Given the description of an element on the screen output the (x, y) to click on. 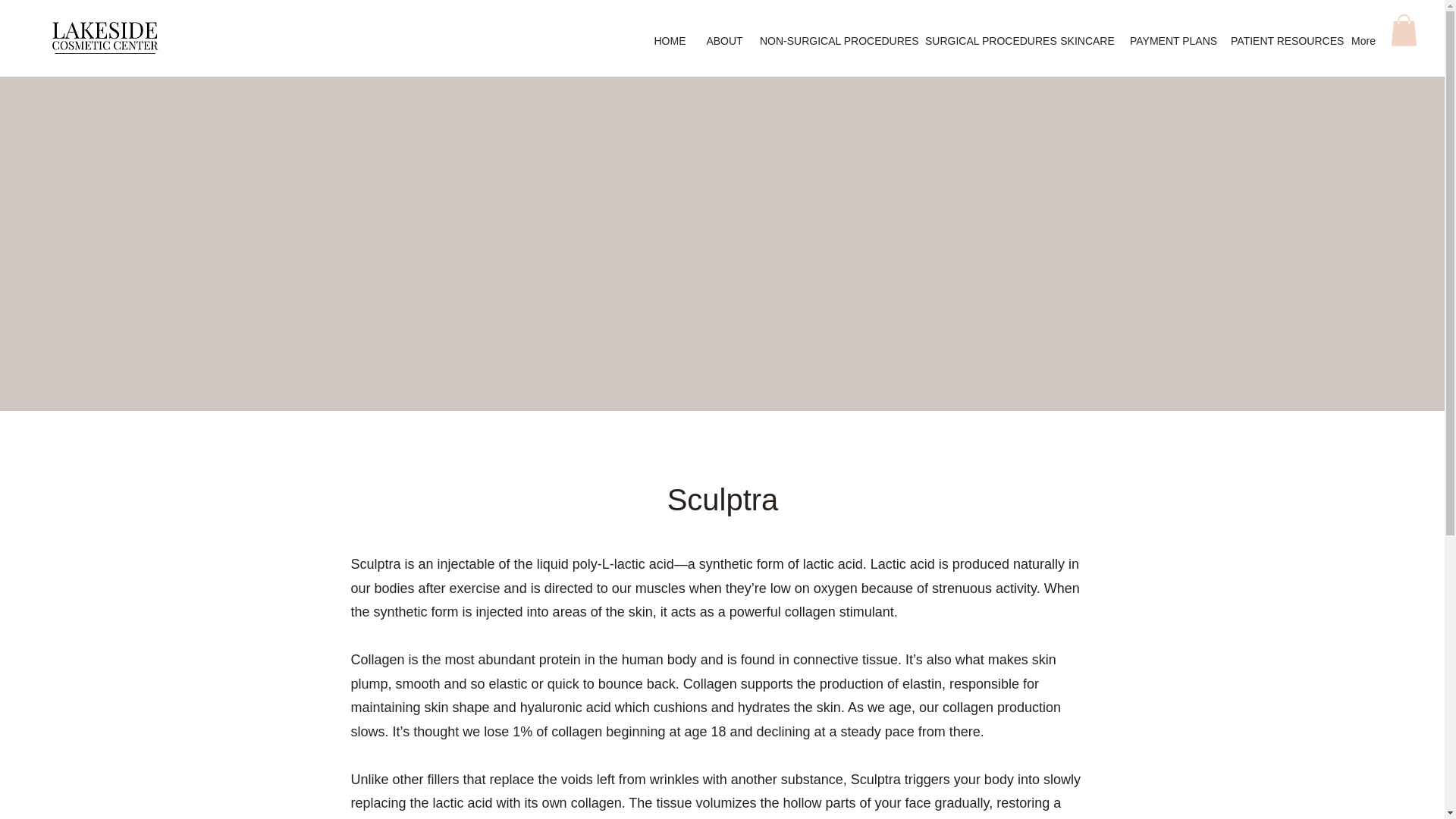
HOME (670, 40)
NON-SURGICAL PROCEDURES (834, 40)
SKINCARE (1087, 40)
SURGICAL PROCEDURES (984, 40)
PATIENT RESOURCES (1281, 40)
PAYMENT PLANS (1172, 40)
ABOUT (724, 40)
